Given the description of an element on the screen output the (x, y) to click on. 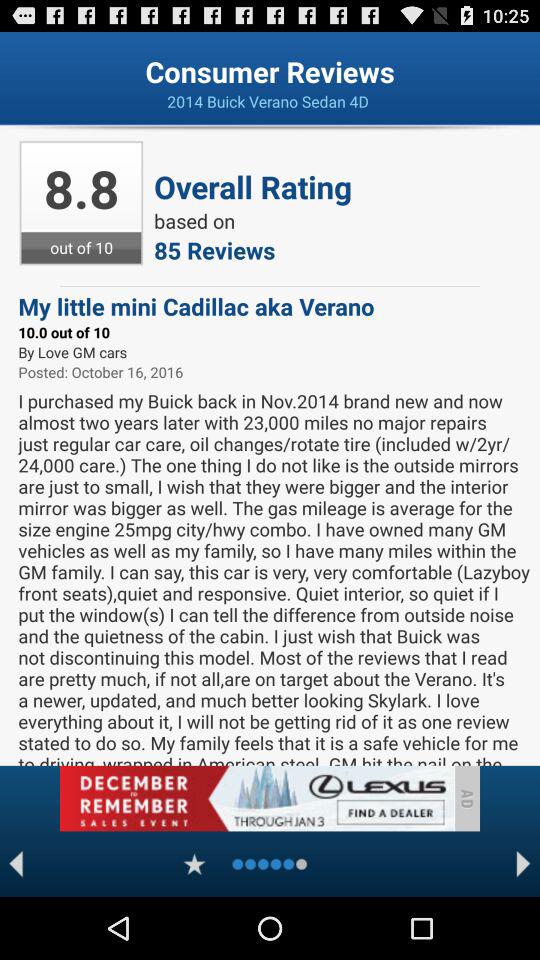
mark as favorite (194, 864)
